Given the description of an element on the screen output the (x, y) to click on. 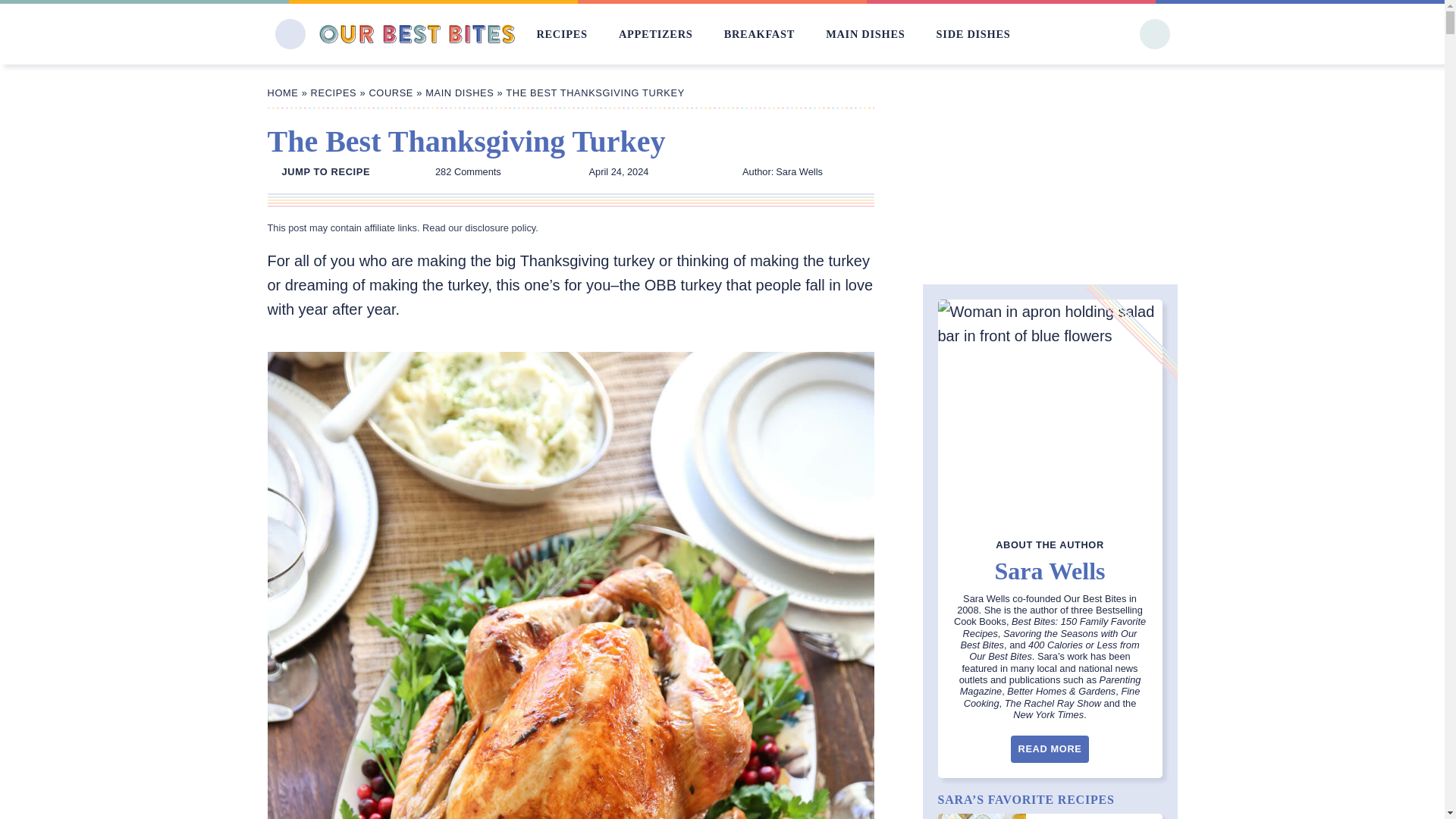
MAIN DISHES (864, 33)
APPETIZERS (655, 33)
twitter (1099, 34)
BREAKFAST (758, 33)
SIDE DISHES (973, 33)
RECIPES (560, 33)
